Given the description of an element on the screen output the (x, y) to click on. 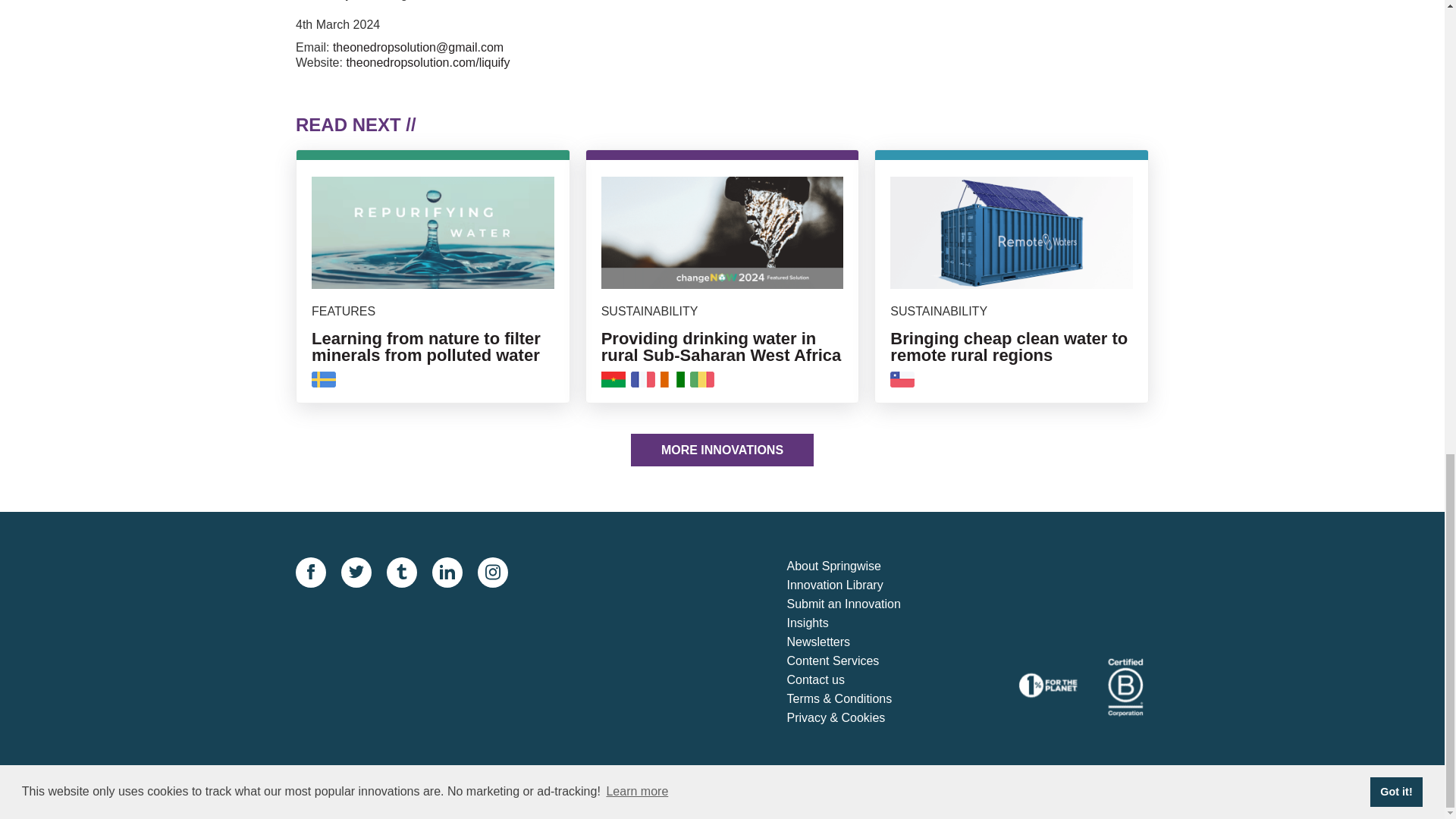
Contact us (856, 680)
Newsletters (856, 642)
Submit an Innovation (856, 604)
About Springwise (856, 566)
Innovation Library (856, 585)
Content Services (856, 660)
Insights (856, 623)
MORE INNOVATIONS (721, 450)
